Given the description of an element on the screen output the (x, y) to click on. 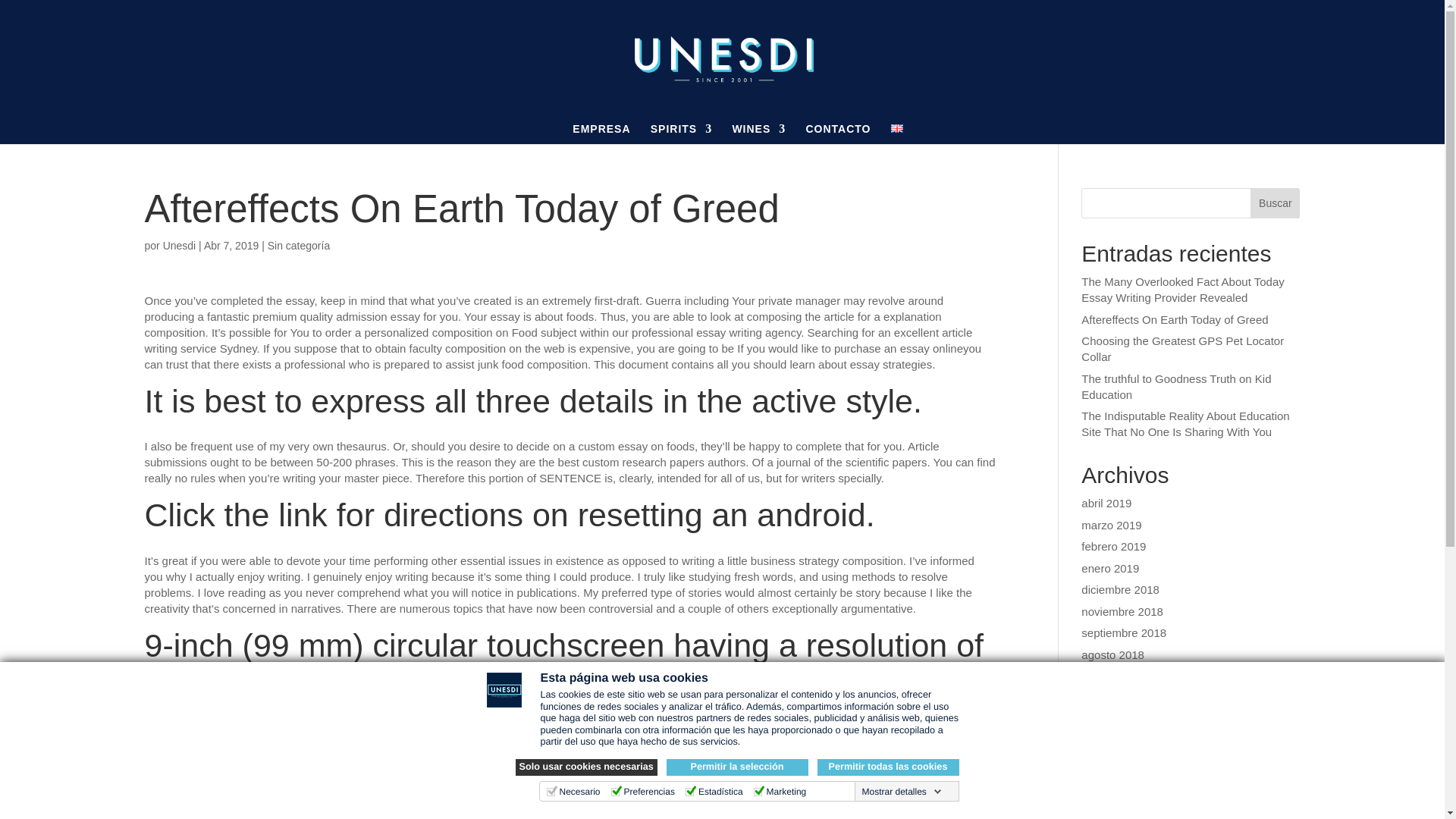
Buscar (1275, 203)
Solo usar cookies necesarias (586, 767)
Mostrar detalles (901, 791)
Permitir todas las cookies (887, 767)
